Given the description of an element on the screen output the (x, y) to click on. 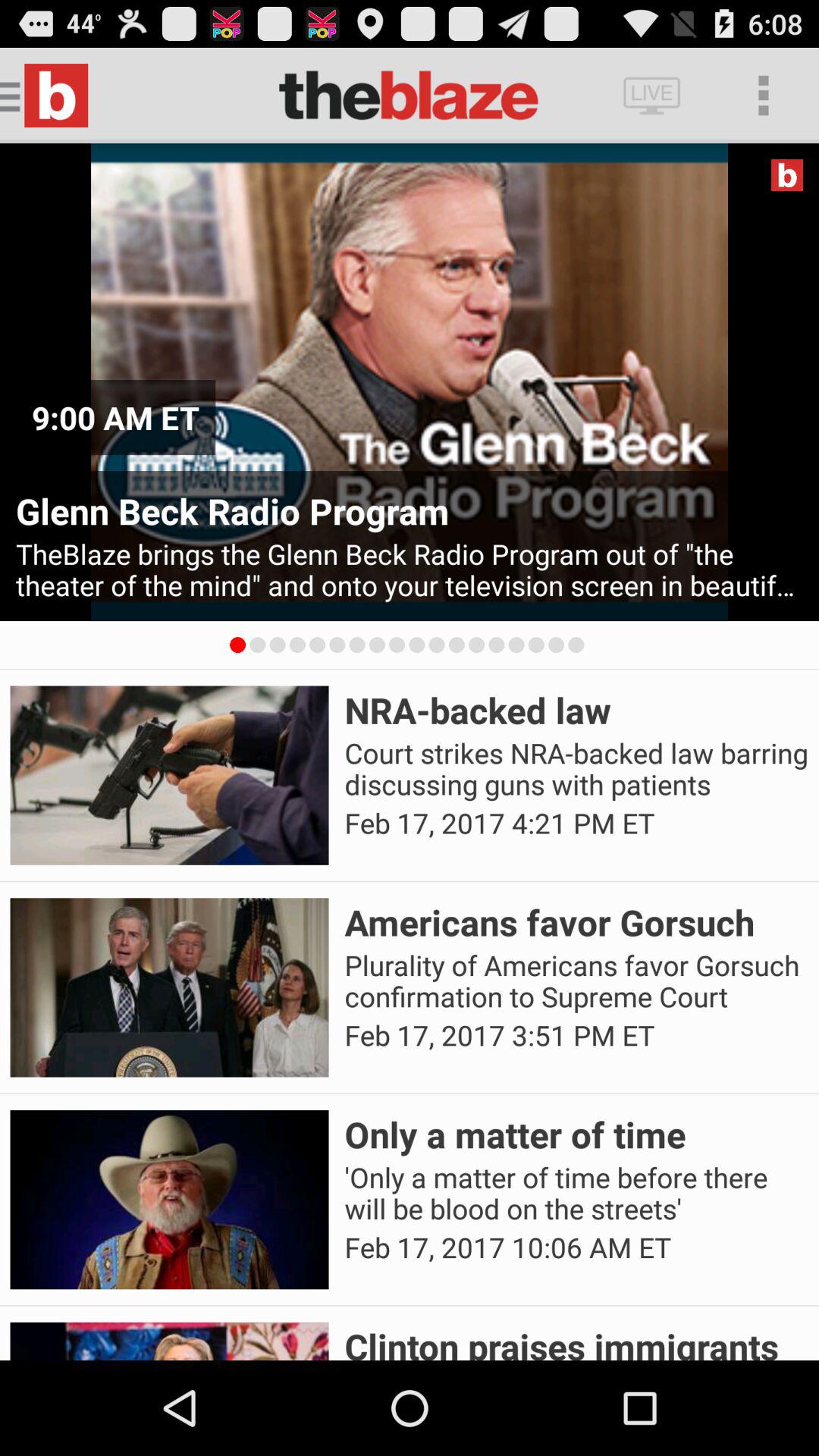
launch item below nra-backed law icon (576, 769)
